Given the description of an element on the screen output the (x, y) to click on. 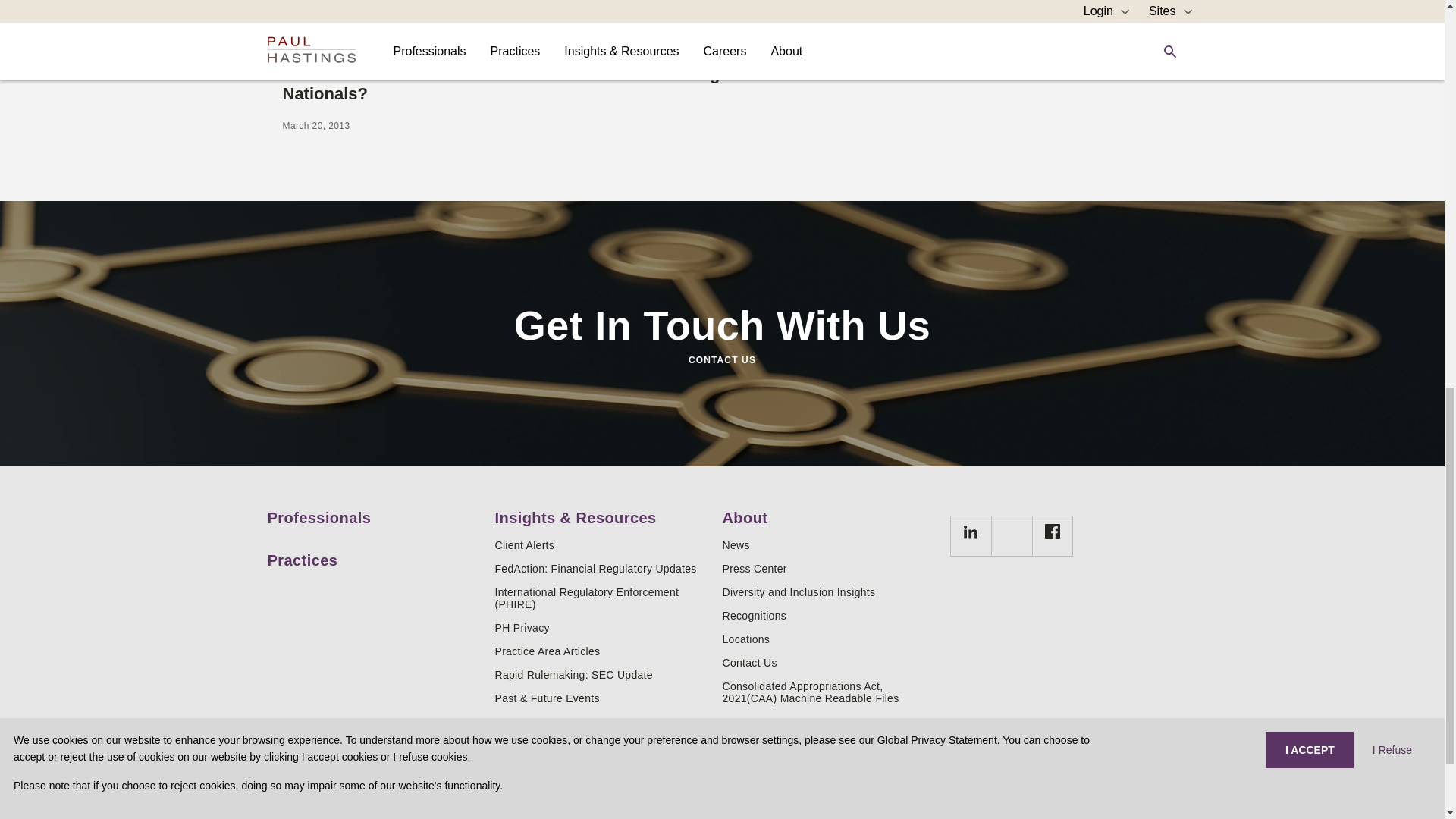
CB6A0679-7CD4-47AB-9AF9-079521319001Created with sketchtool. (969, 531)
BC42128A-F0DE-4FE2-9372-6CDE6D4F5957Created with sketchtool. (1052, 531)
